Given the description of an element on the screen output the (x, y) to click on. 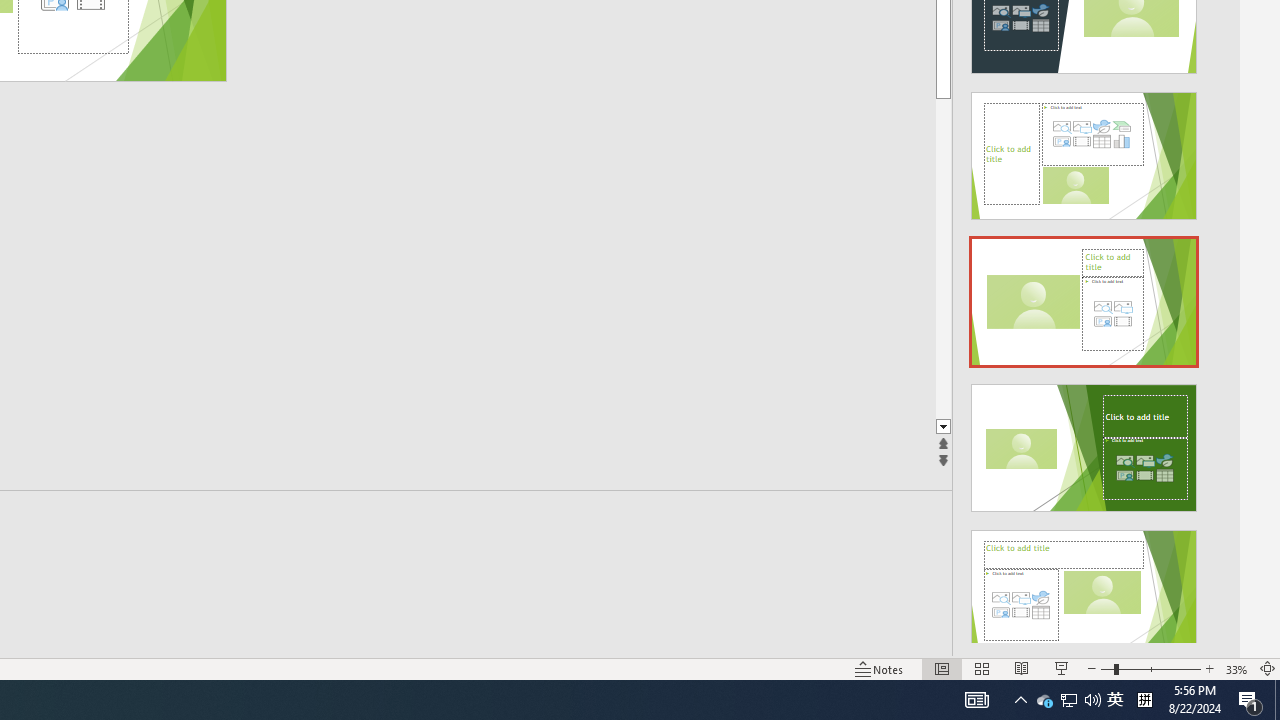
Class: NetUIImage (1083, 593)
Design Idea (1083, 587)
Page down (1011, 258)
Zoom 33% (1236, 668)
Line down (1011, 427)
